Given the description of an element on the screen output the (x, y) to click on. 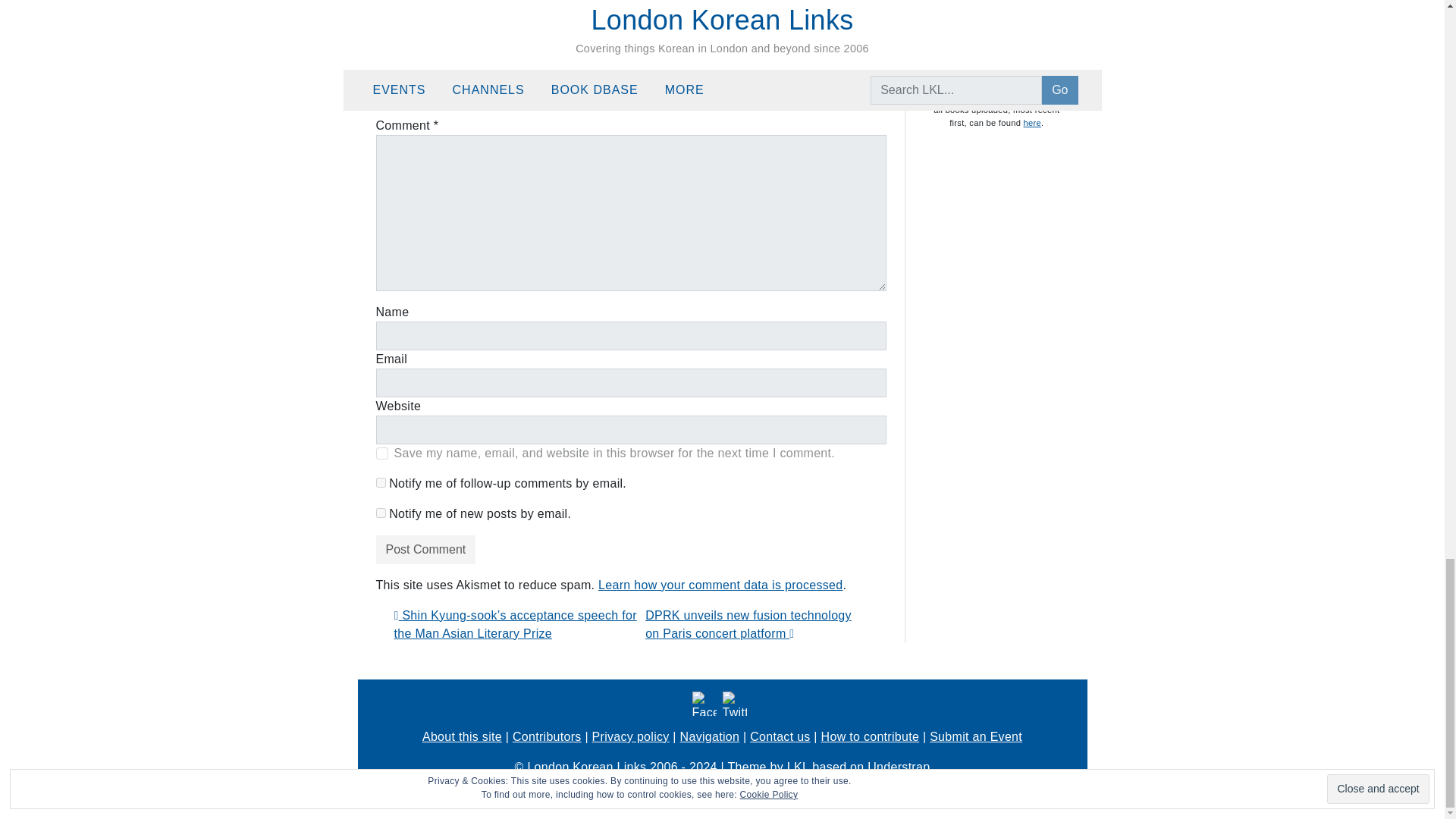
yes (381, 453)
subscribe (380, 482)
Post Comment (425, 549)
subscribe (380, 512)
